Given the description of an element on the screen output the (x, y) to click on. 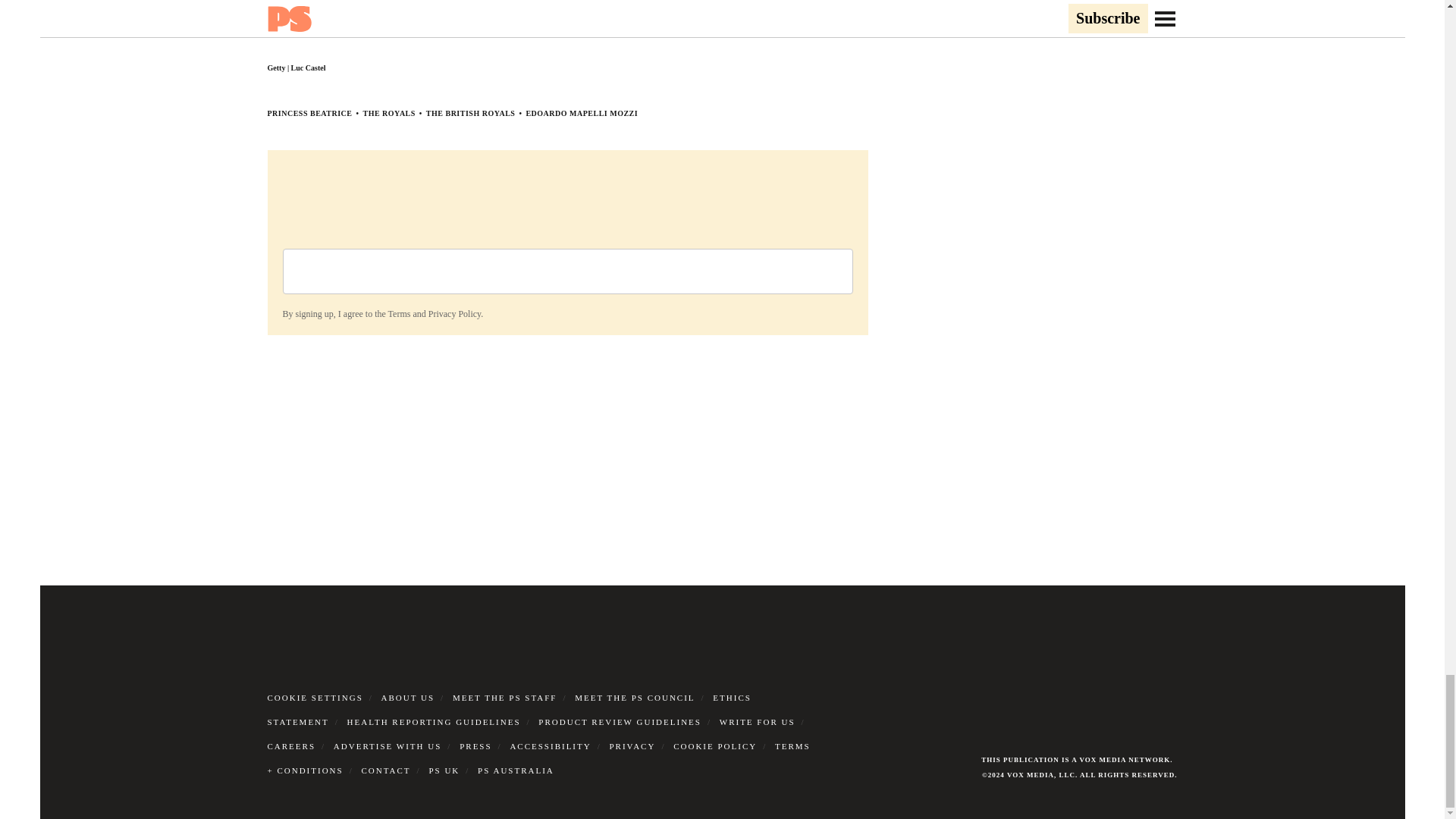
PRODUCT REVIEW GUIDELINES (619, 721)
MEET THE PS COUNCIL (634, 697)
HEALTH REPORTING GUIDELINES (434, 721)
ADVERTISE WITH US (387, 746)
PRINCESS BEATRICE (309, 112)
THE ROYALS (388, 112)
EDOARDO MAPELLI MOZZI (581, 112)
CAREERS (290, 746)
ETHICS STATEMENT (508, 709)
MEET THE PS STAFF (504, 697)
